Given the description of an element on the screen output the (x, y) to click on. 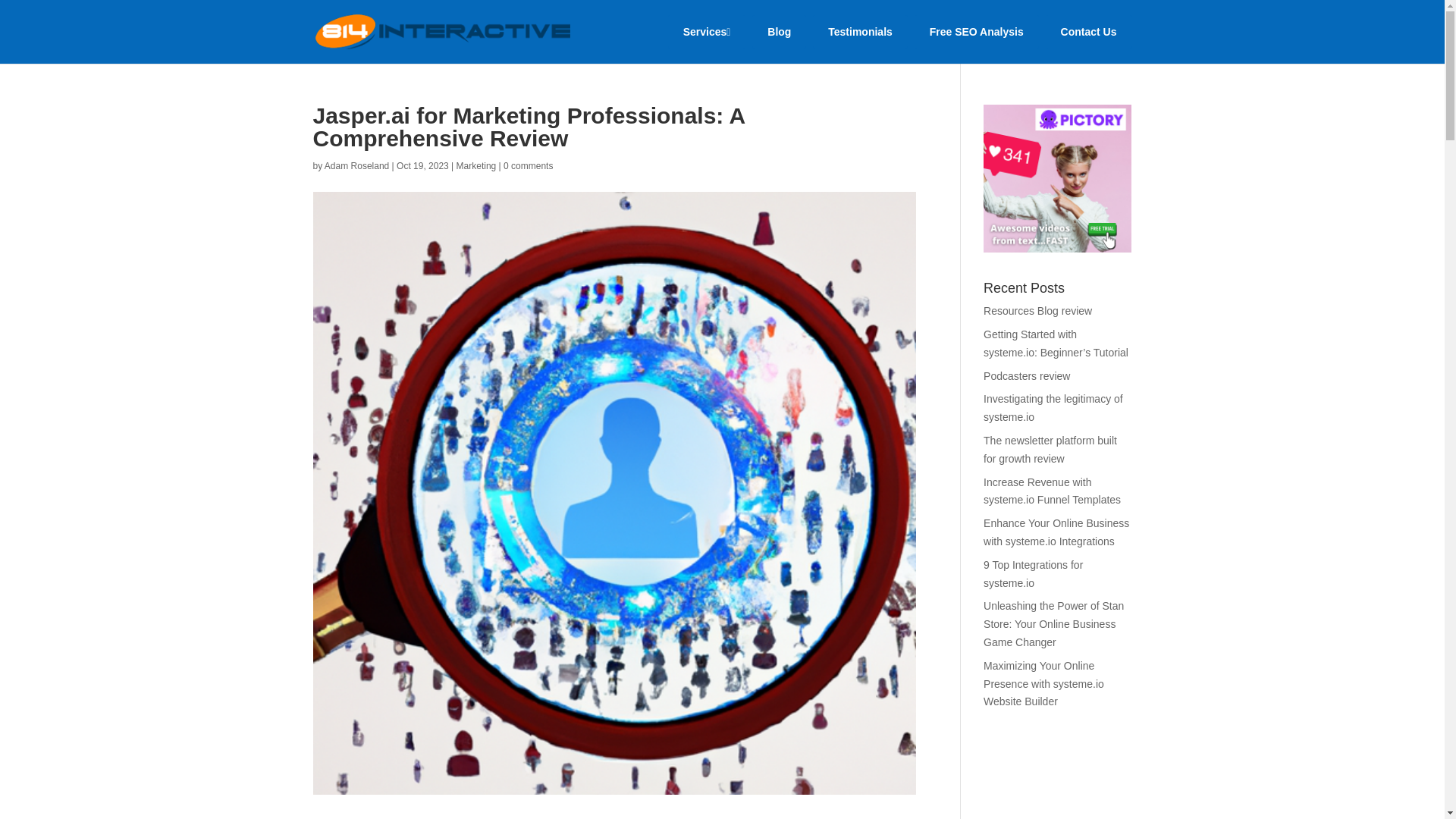
Testimonials (859, 31)
Posts by Adam Roseland (356, 165)
Blog (779, 31)
Podcasters review (1027, 376)
9 Top Integrations for systeme.io (1033, 573)
0 comments (528, 165)
Contact Us (1088, 31)
Investigating the legitimacy of systeme.io (1053, 408)
Adam Roseland (356, 165)
